Given the description of an element on the screen output the (x, y) to click on. 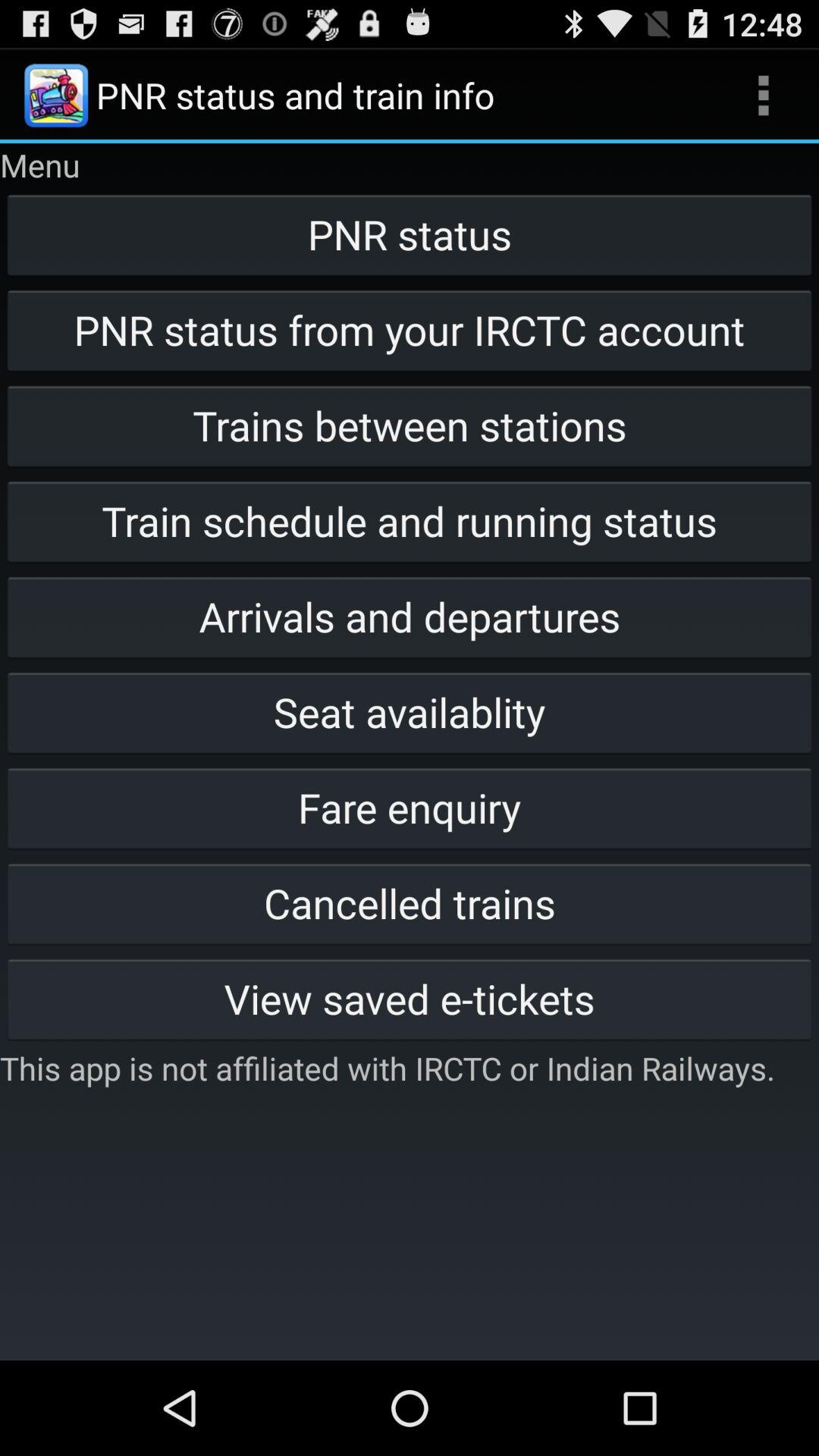
scroll until the arrivals and departures (409, 616)
